Given the description of an element on the screen output the (x, y) to click on. 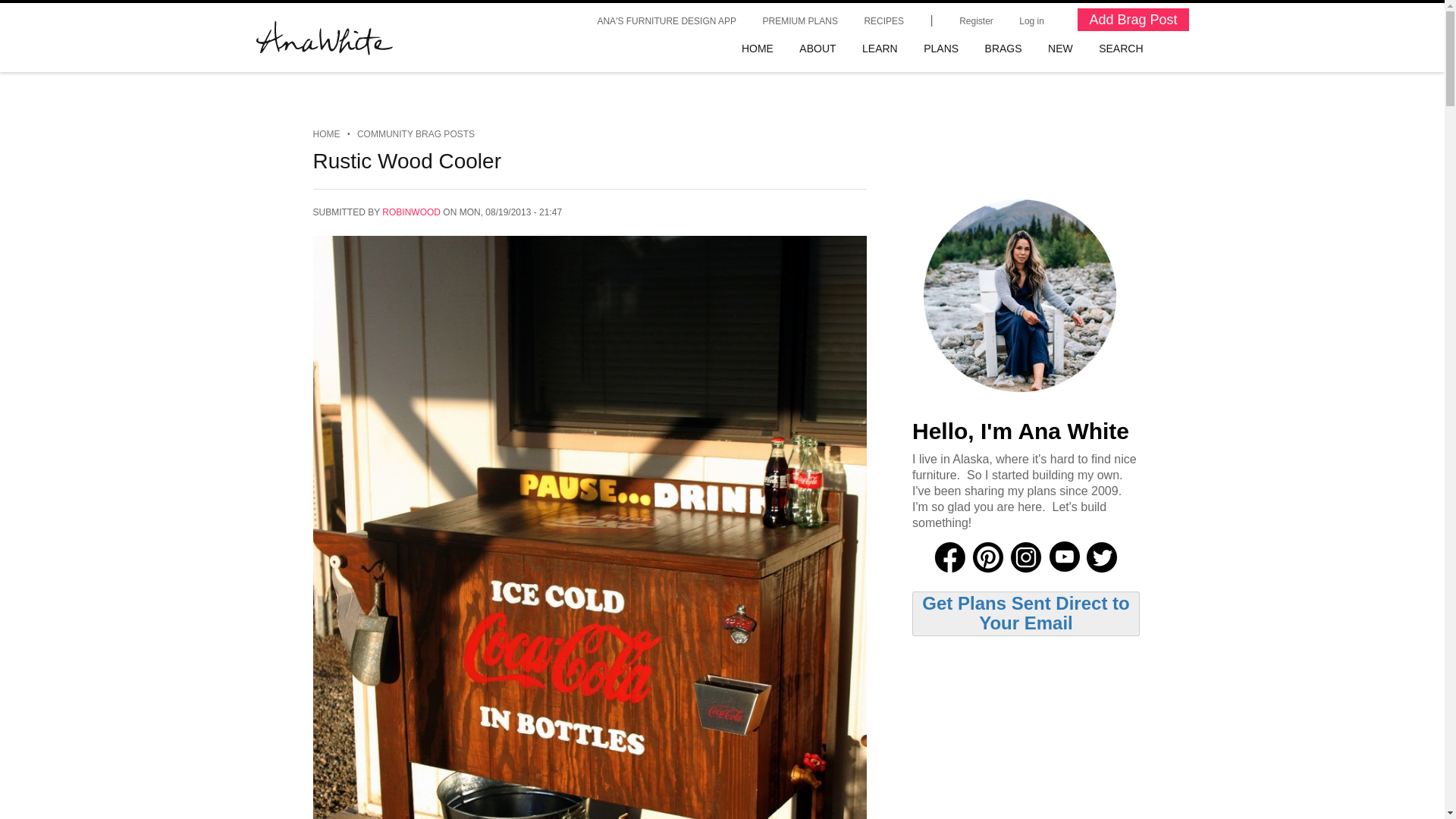
ROBINWOOD (411, 212)
HOME (326, 133)
SEARCH (1120, 48)
Register (975, 20)
HOME (757, 48)
COMMUNITY BRAG POSTS (415, 133)
PREMIUM PLANS (799, 20)
PLANS (940, 48)
Home (324, 38)
Get Plans Sent Direct to Your Email (1024, 613)
